Given the description of an element on the screen output the (x, y) to click on. 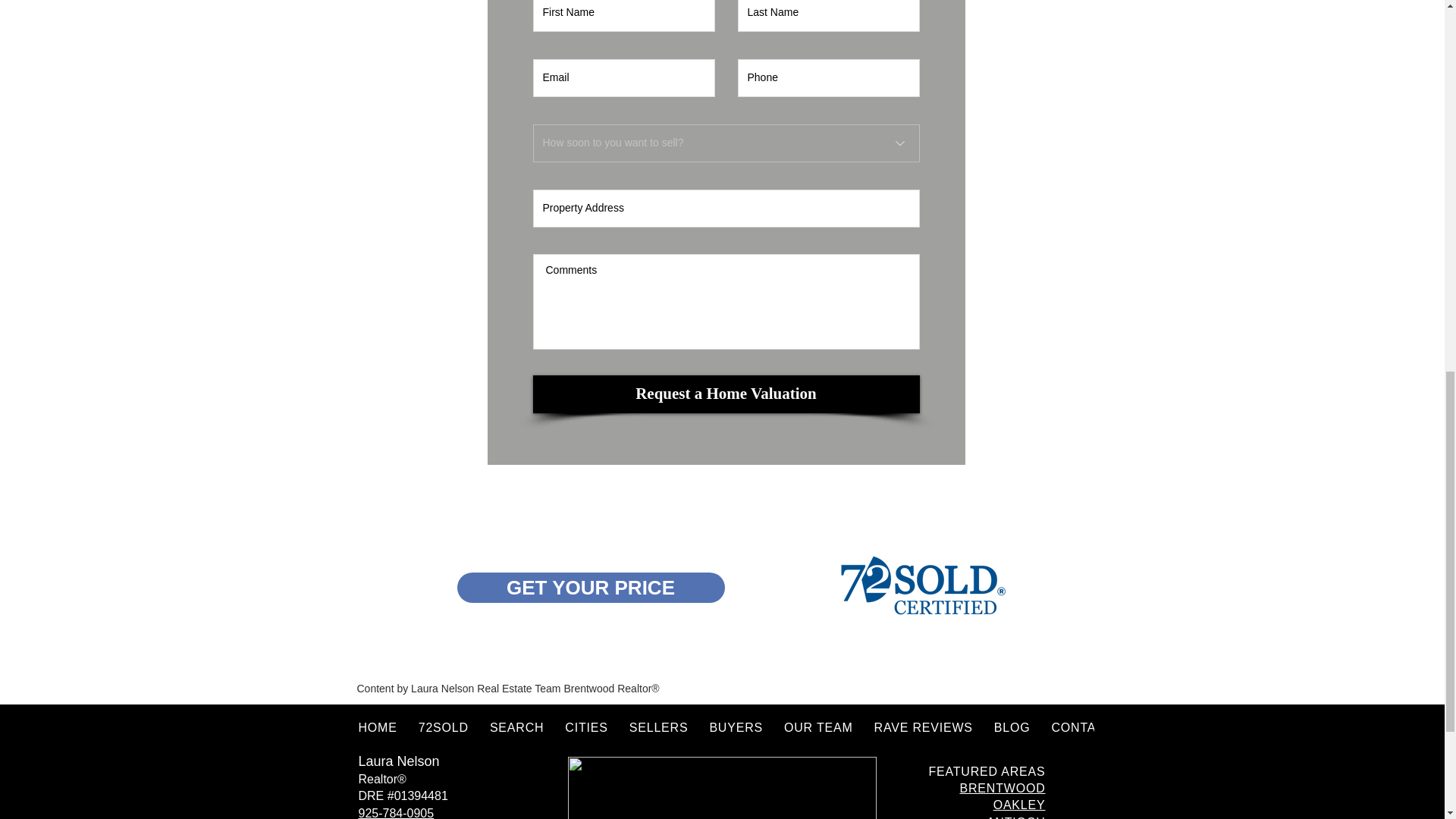
HOME (377, 727)
SEARCH (516, 727)
GET YOUR PRICE (590, 587)
Request a Home Valuation (725, 394)
72SOLD (443, 727)
CITIES (585, 727)
LAURA NELSON LOGO RED AND WHITE T.png (721, 787)
